Given the description of an element on the screen output the (x, y) to click on. 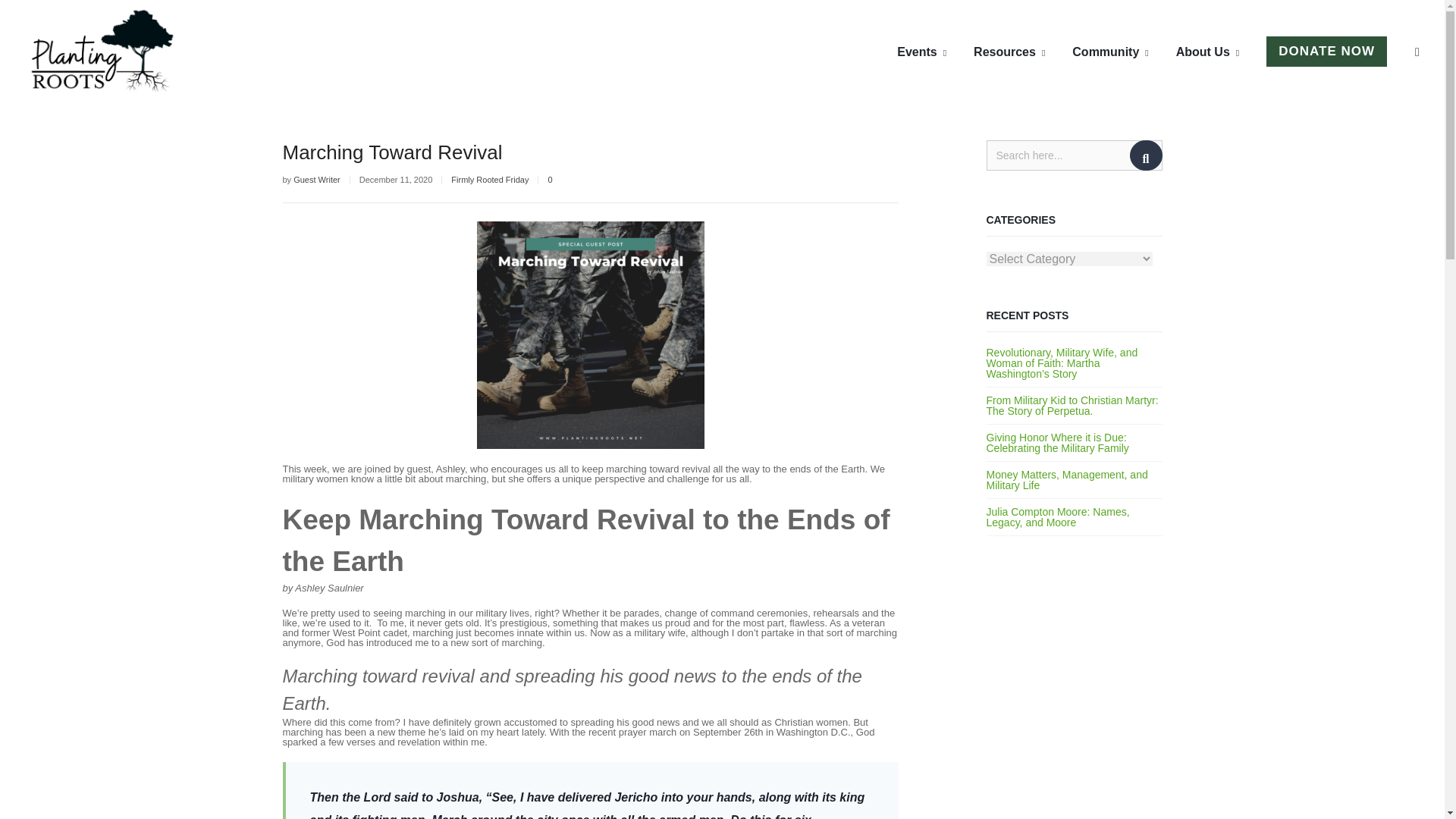
Resources (1008, 51)
About Us (1207, 51)
Search here... (1073, 155)
Community (1109, 51)
View all posts in Firmly Rooted Friday (489, 179)
Events (921, 51)
Search here... (1073, 155)
Posts by Guest Writer (317, 179)
